Given the description of an element on the screen output the (x, y) to click on. 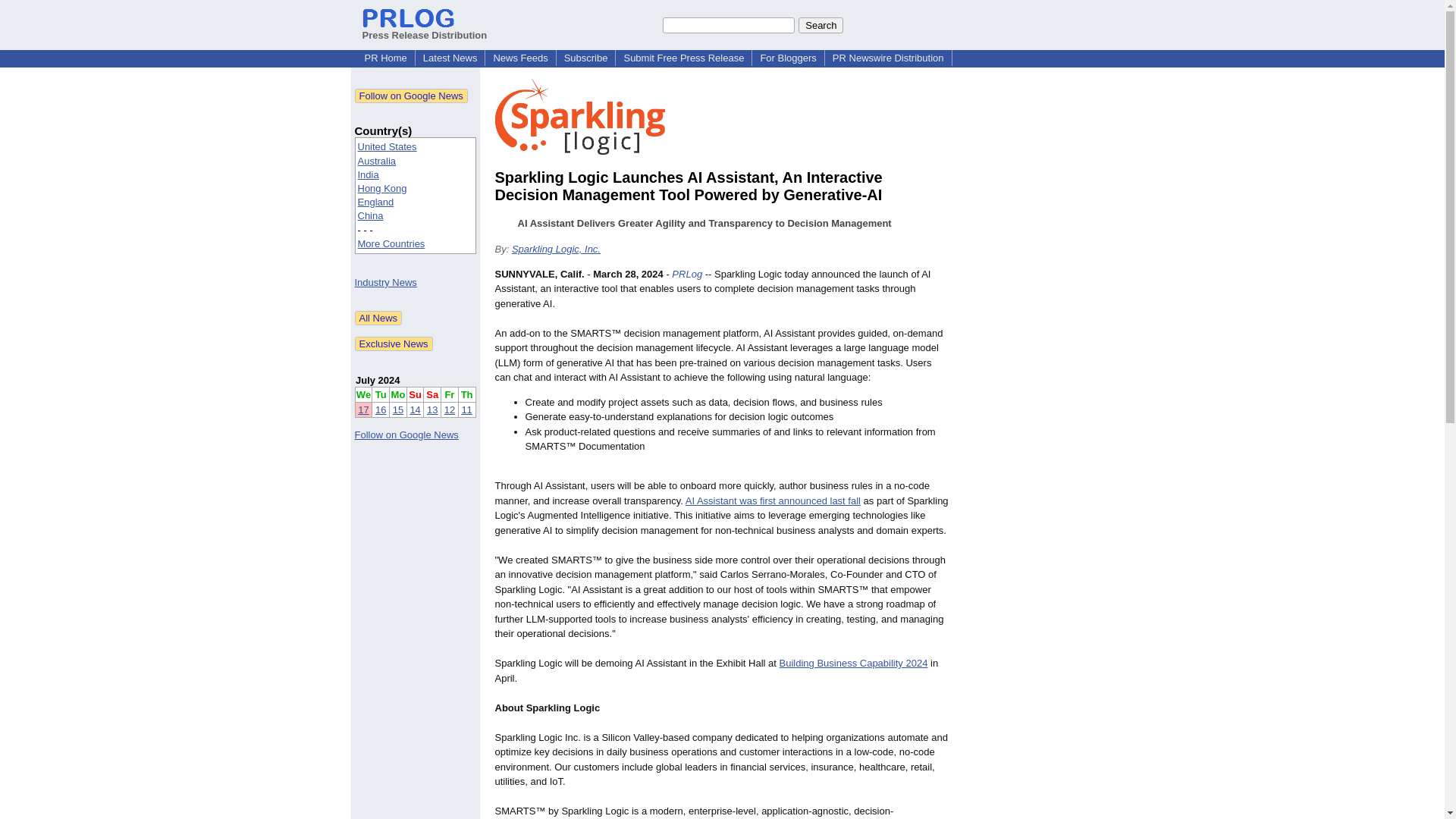
PR Newswire Distribution (888, 57)
United States (387, 146)
China (371, 215)
All News (379, 318)
Exclusive News (393, 343)
Exclusive News (393, 343)
Subscribe (585, 57)
16 (380, 409)
PR Home (385, 57)
Press Release Distribution (424, 29)
Industry News (385, 282)
Hong Kong (382, 188)
Follow on Google News (406, 434)
All News (379, 318)
For Bloggers (788, 57)
